Given the description of an element on the screen output the (x, y) to click on. 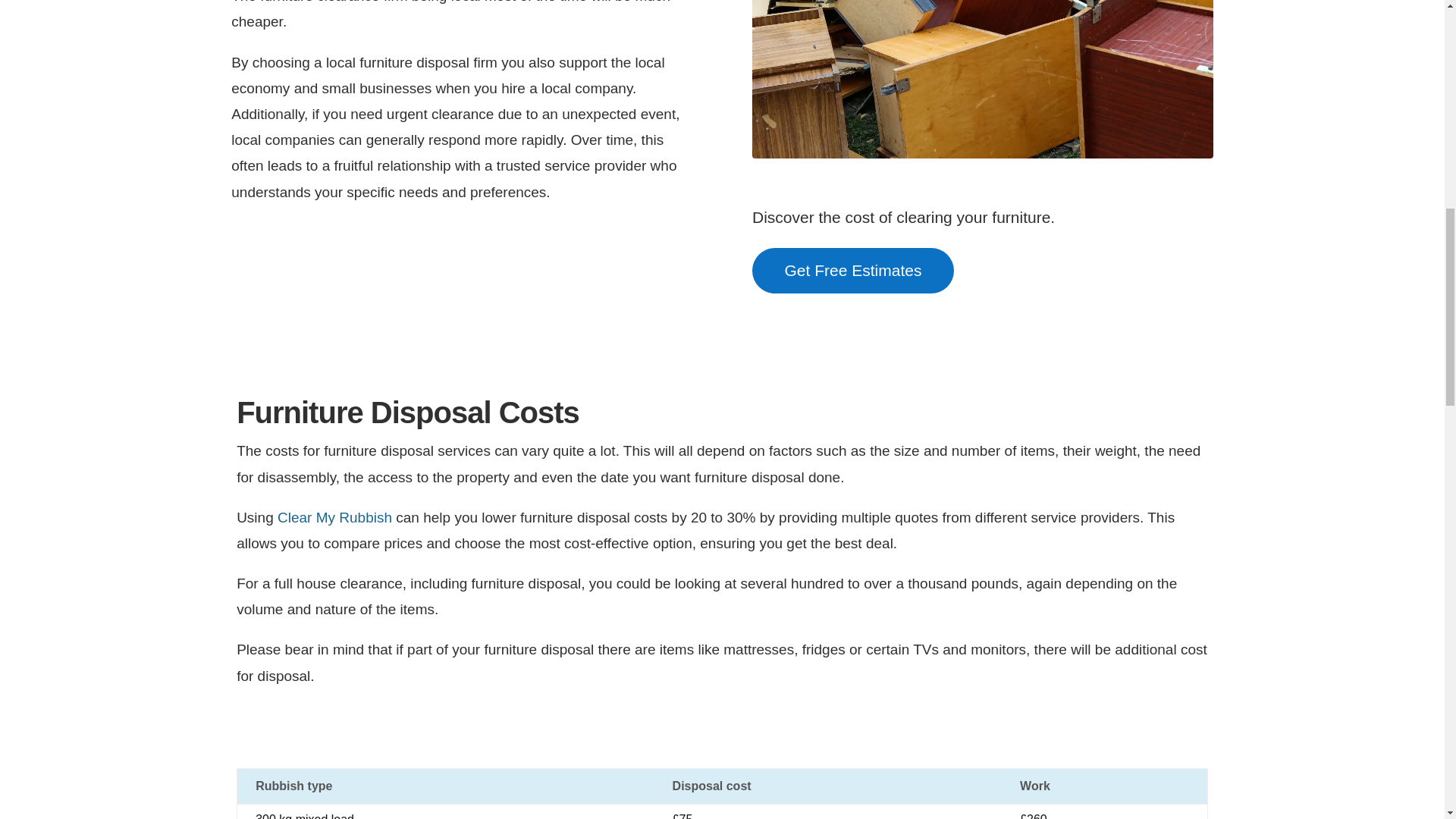
Clear My Rubbish (334, 517)
Get Free Estimates (852, 270)
Furniture disposal (982, 79)
Clear My Rubbish (334, 517)
